Given the description of an element on the screen output the (x, y) to click on. 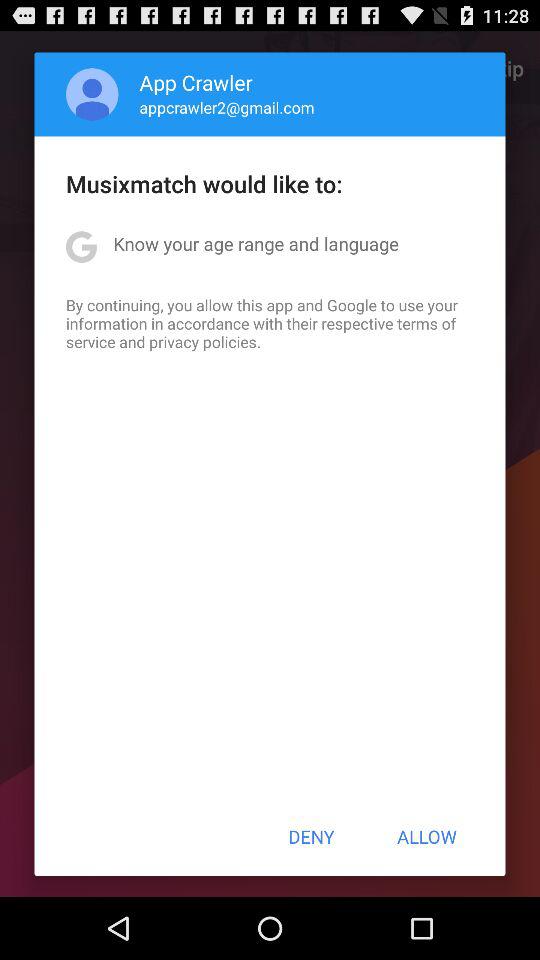
flip to appcrawler2@gmail.com icon (226, 107)
